Given the description of an element on the screen output the (x, y) to click on. 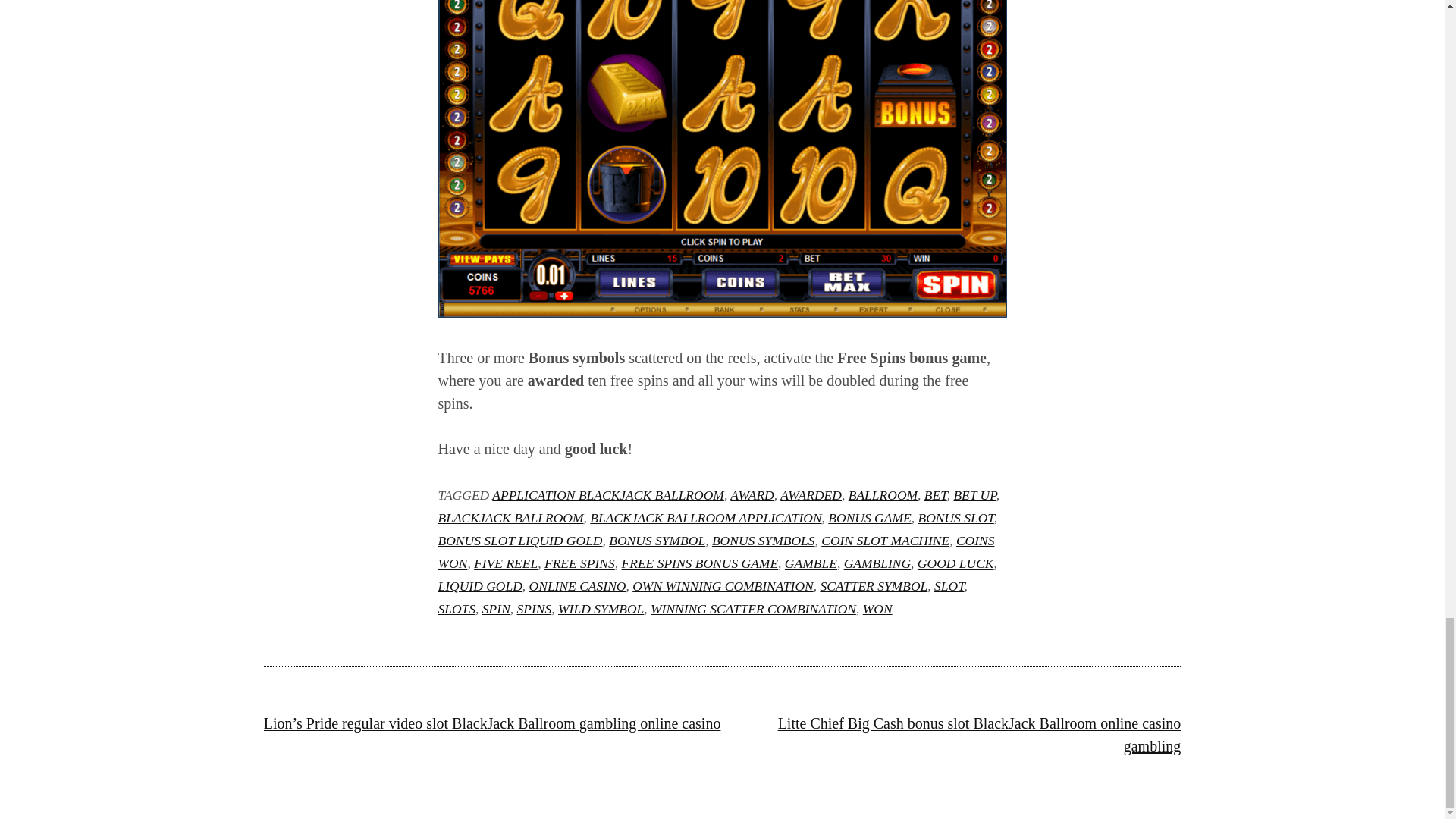
FIVE REEL (505, 563)
ONLINE CASINO (577, 585)
BLACKJACK BALLROOM (510, 517)
GOOD LUCK (955, 563)
SPIN (496, 608)
BONUS SYMBOL (656, 540)
COINS WON (716, 551)
BET UP (974, 494)
AWARDED (810, 494)
